Given the description of an element on the screen output the (x, y) to click on. 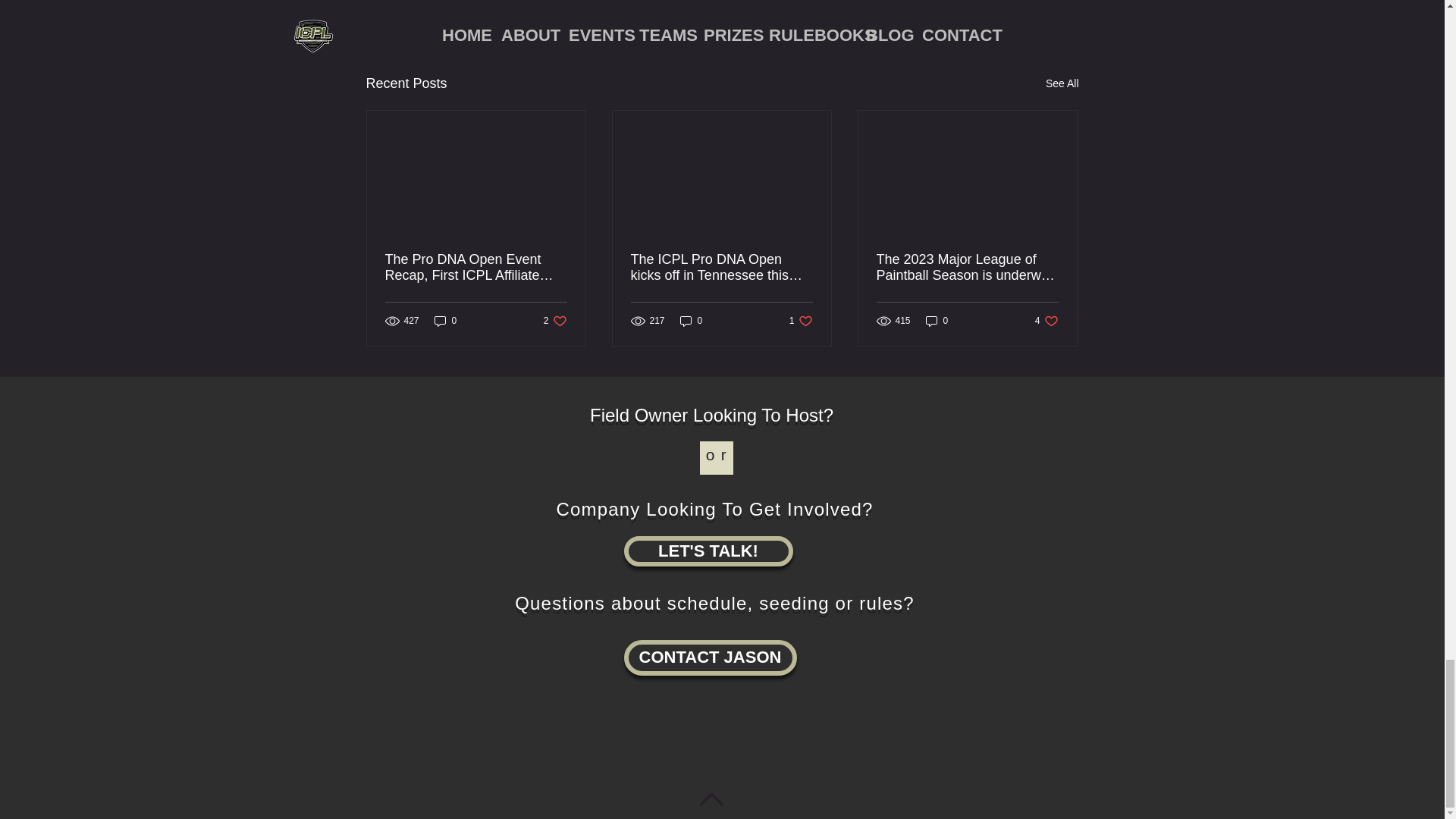
0 (990, 4)
LET'S TALK! (800, 319)
CONTACT JASON (937, 319)
0 (707, 551)
See All (1046, 319)
0 (709, 657)
